Given the description of an element on the screen output the (x, y) to click on. 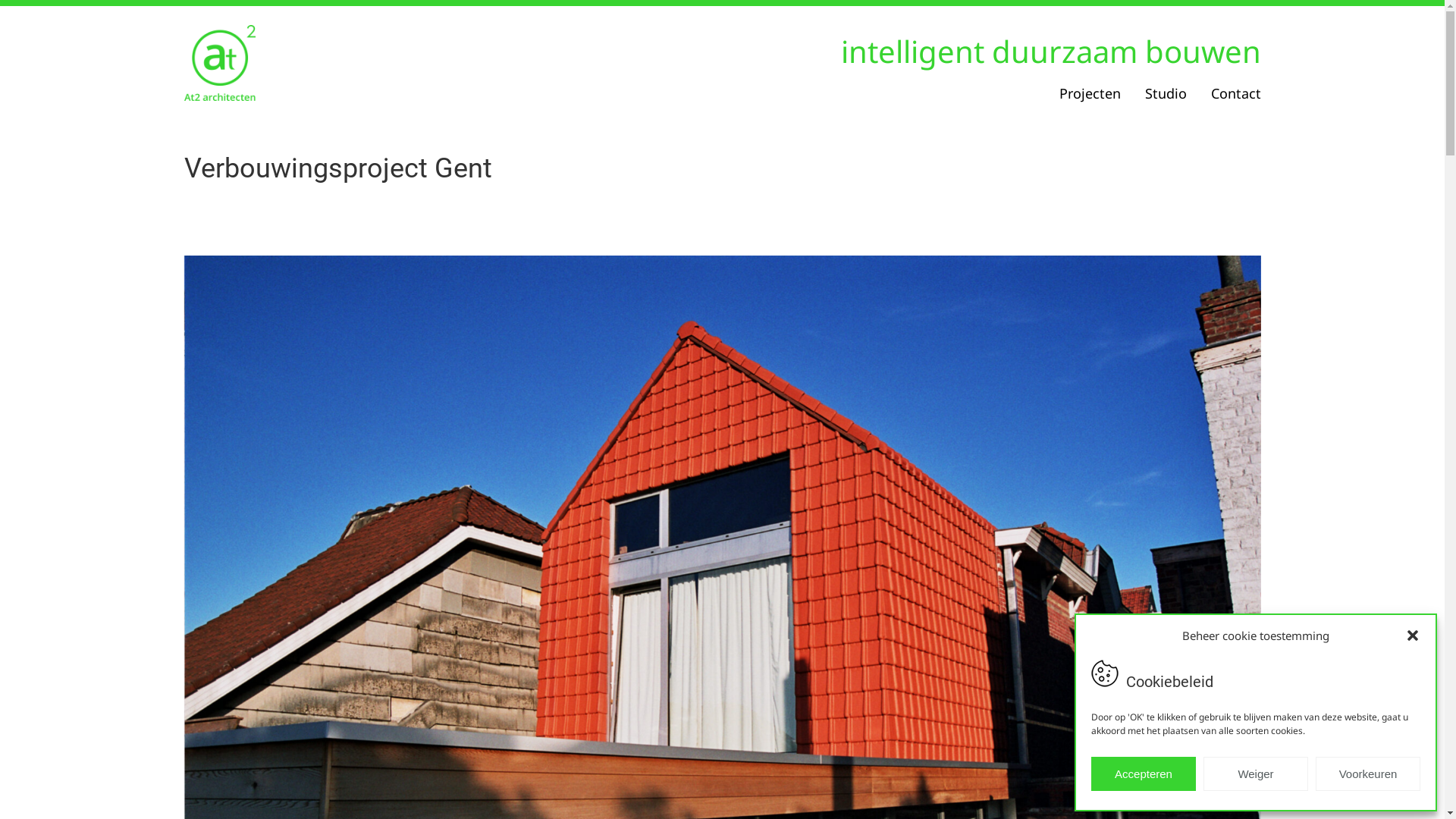
Projecten Element type: text (1089, 93)
intelligent duurzaam bouwen Element type: text (1050, 51)
Weiger Element type: text (1255, 773)
Studio Element type: text (1165, 93)
Contact Element type: text (1229, 93)
Accepteren Element type: text (1143, 773)
Voorkeuren Element type: text (1367, 773)
